Given the description of an element on the screen output the (x, y) to click on. 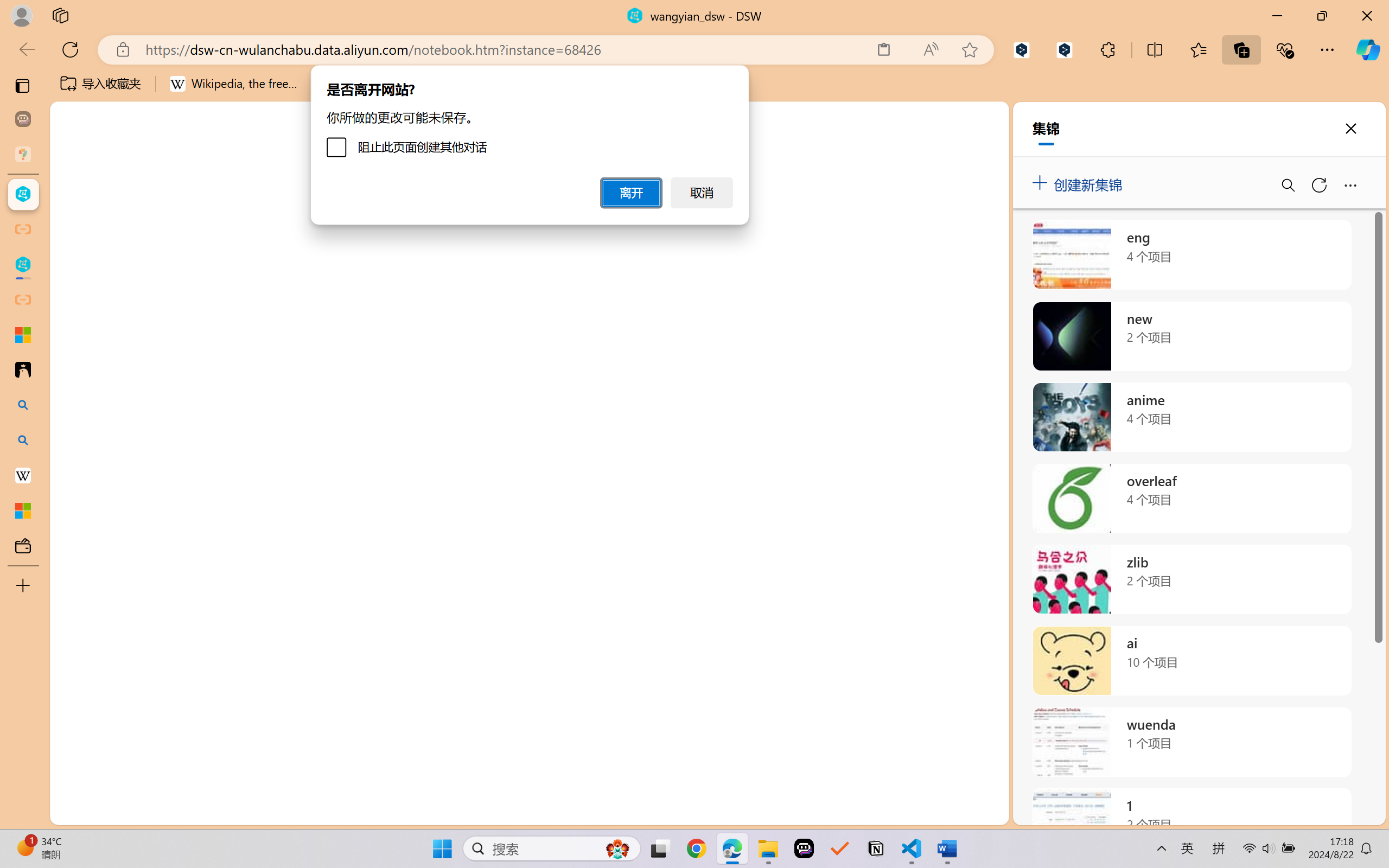
Search (Ctrl+Shift+F) (73, 281)
Output (Ctrl+Shift+U) (377, 565)
icon (1308, 119)
Debug Console (Ctrl+Shift+Y) (463, 565)
Terminal actions (1000, 565)
C27.6% M12.2% G10.0% (1193, 121)
